Given the description of an element on the screen output the (x, y) to click on. 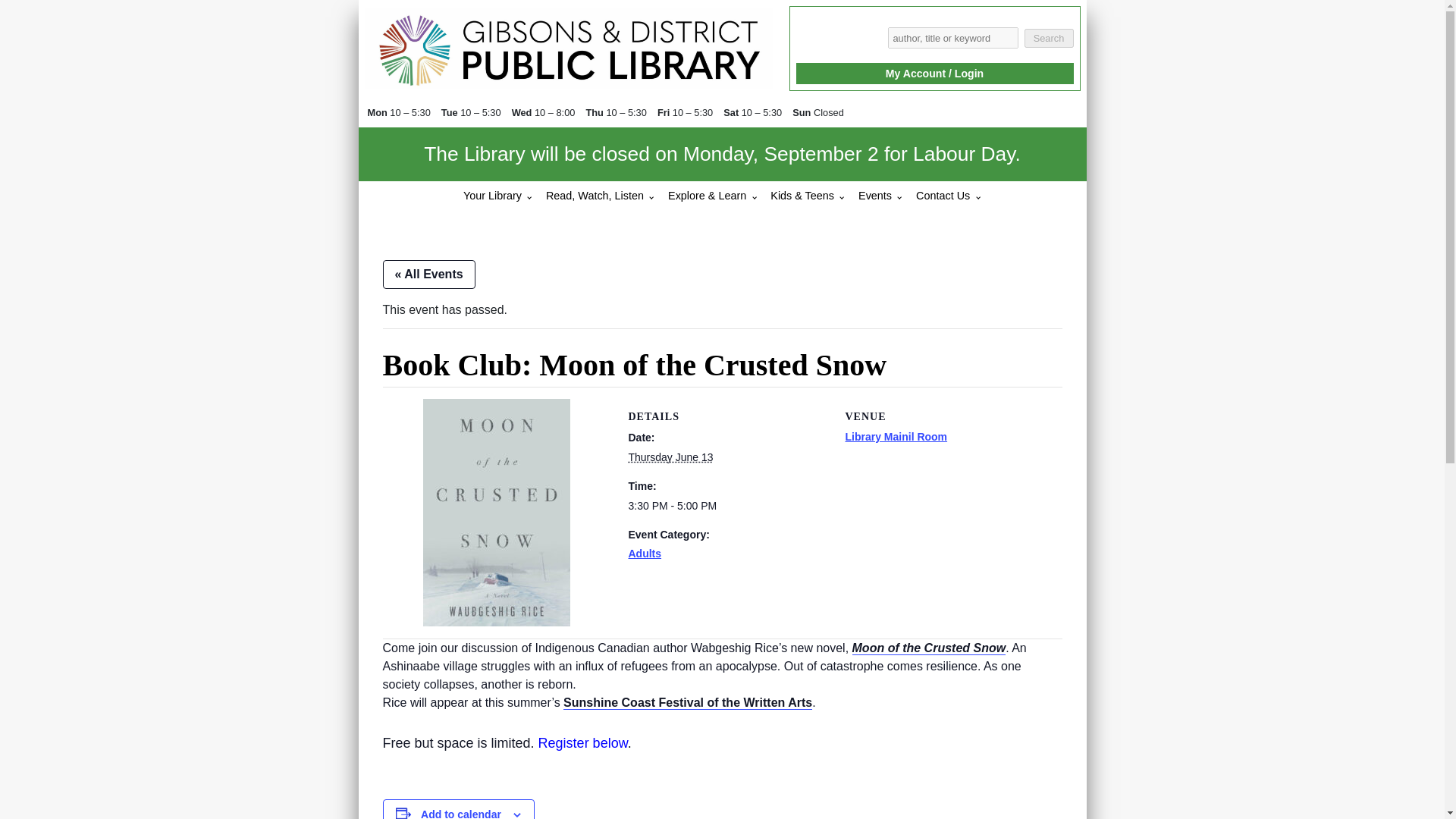
Saturday (732, 112)
2024-06-13 (670, 457)
Sunday (802, 112)
Monday (378, 112)
Wednesday (523, 112)
2024-06-13 (727, 505)
Search (1048, 37)
Thursday (595, 112)
Search (1048, 37)
Important Notice (722, 154)
